Given the description of an element on the screen output the (x, y) to click on. 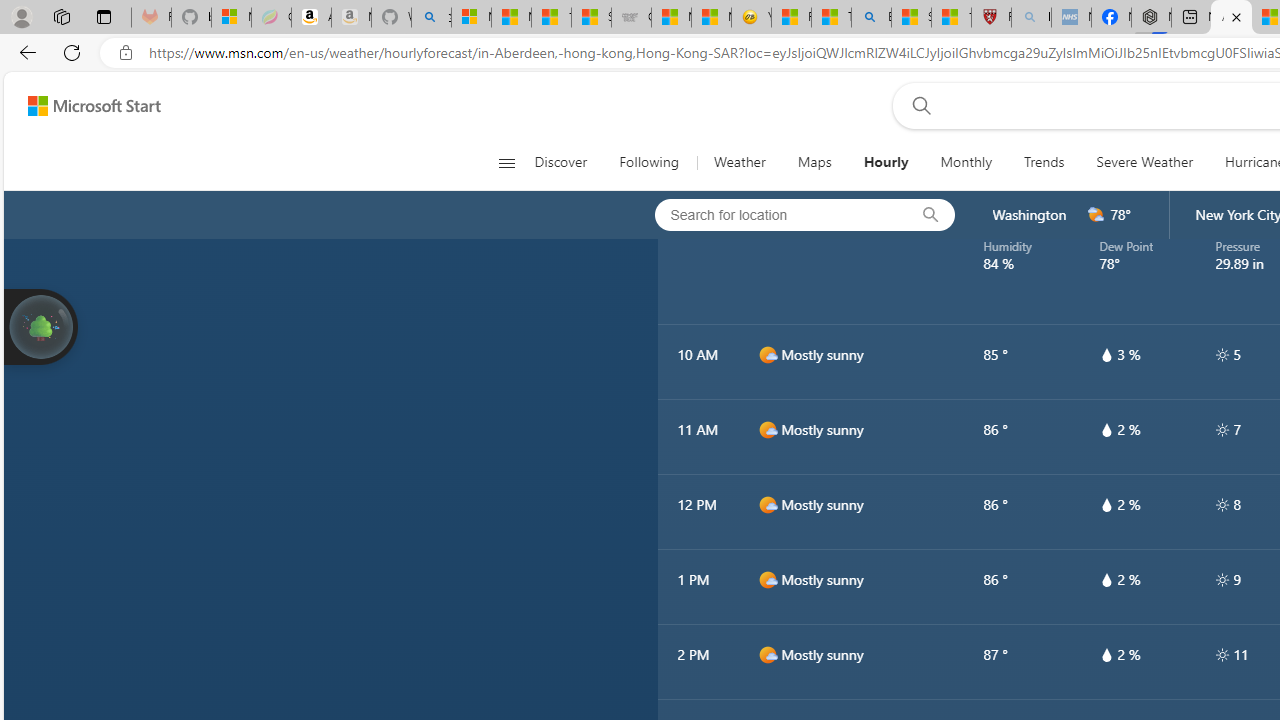
locationBar/search (930, 215)
Monthly (966, 162)
Join us in planting real trees to help our planet! (40, 325)
